Given the description of an element on the screen output the (x, y) to click on. 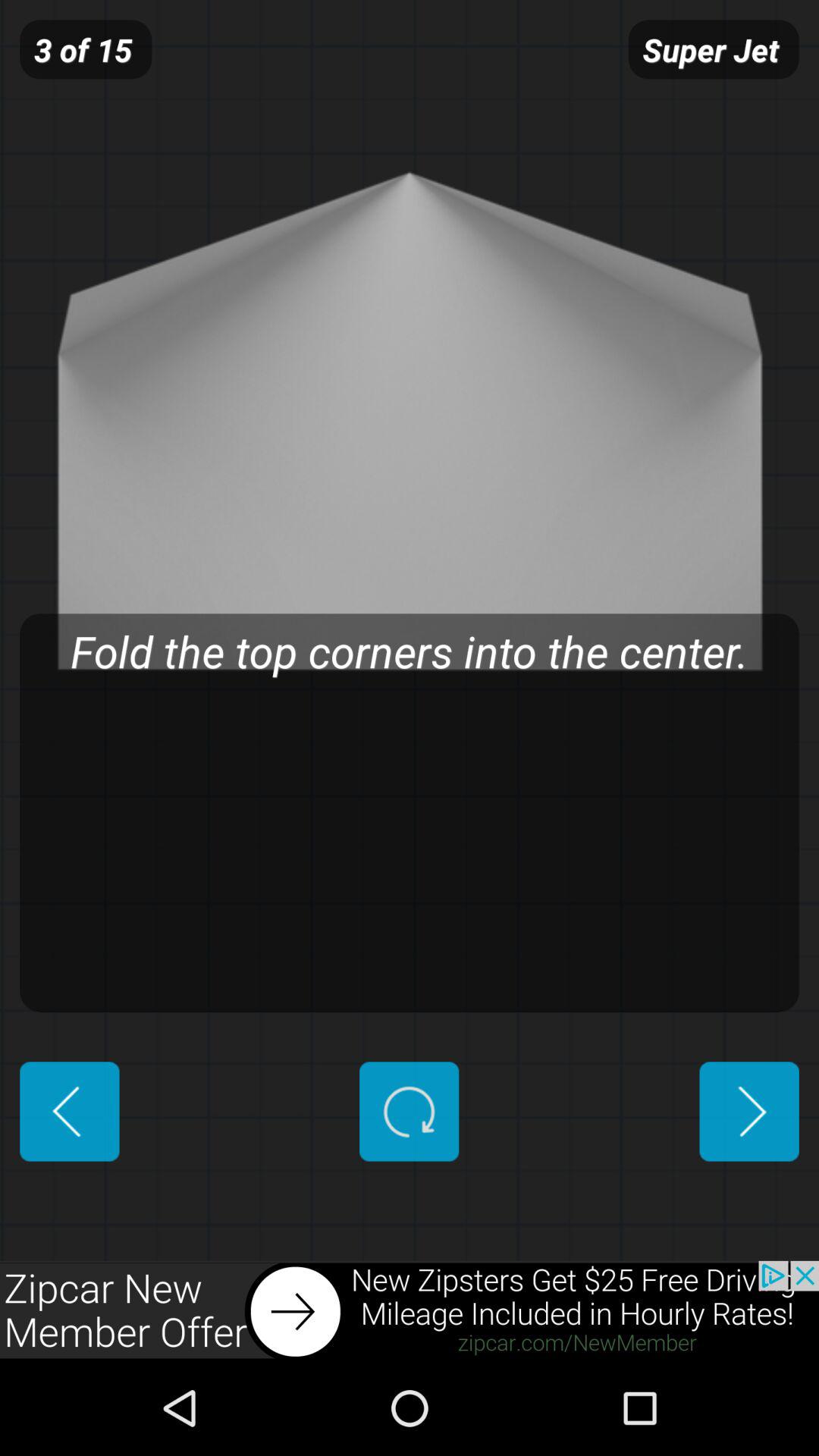
refresh page (408, 1111)
